Given the description of an element on the screen output the (x, y) to click on. 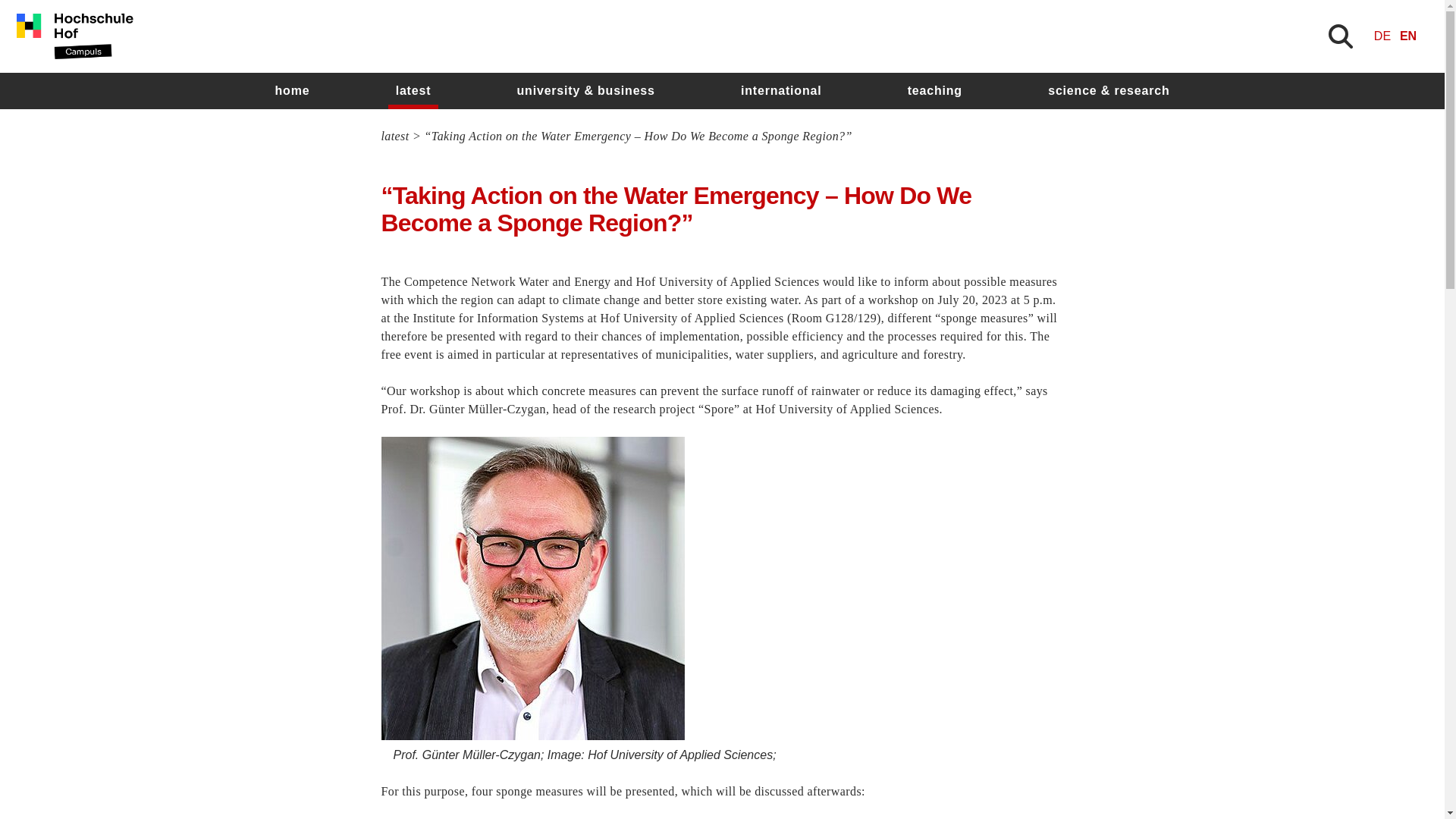
teaching (934, 90)
home (291, 90)
DE (1382, 35)
international (780, 90)
search (908, 457)
EN (1407, 35)
latest (413, 90)
